Given the description of an element on the screen output the (x, y) to click on. 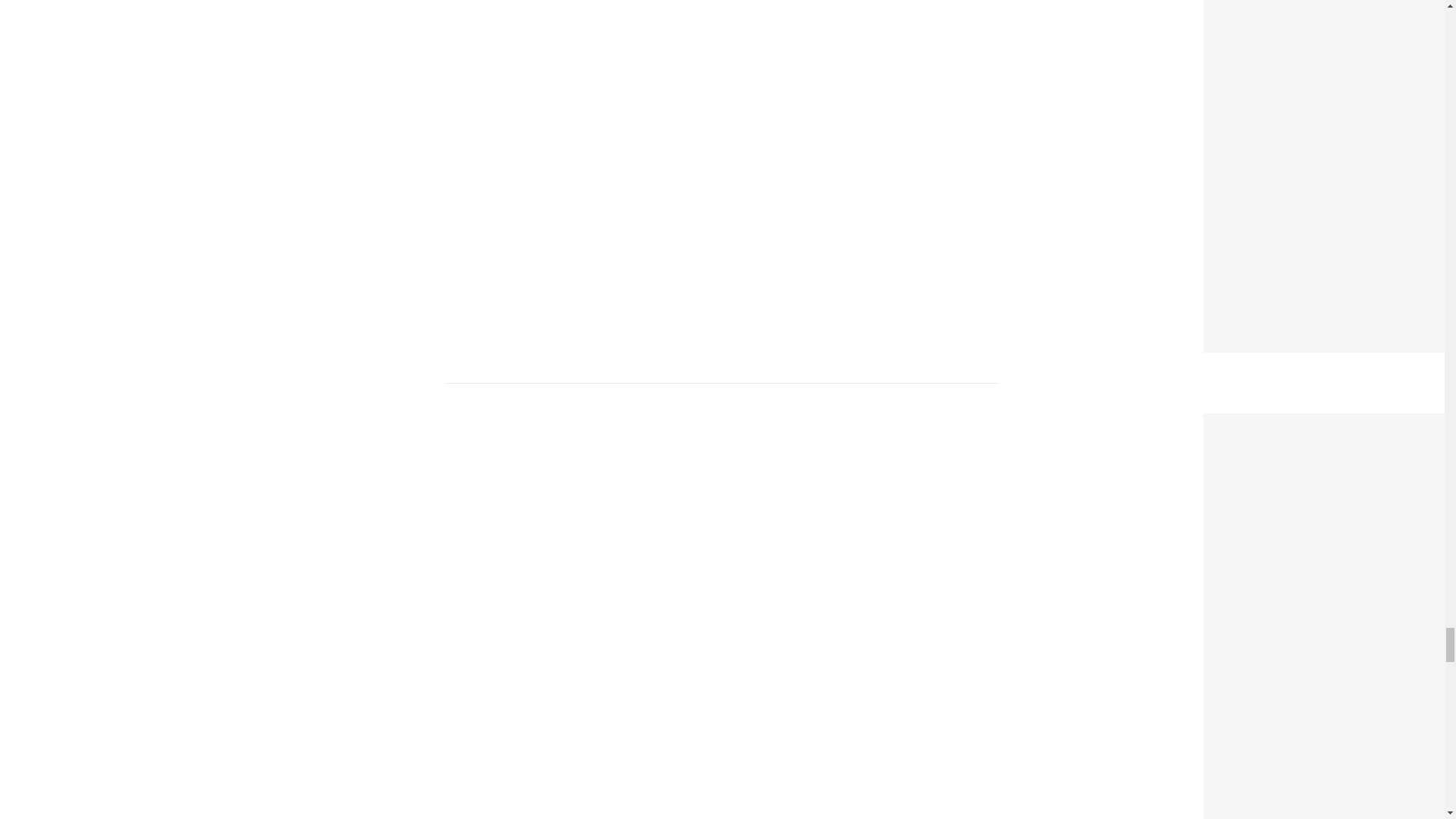
Aesthetic Christmas Wallpaper Jesus (1324, 422)
